Given the description of an element on the screen output the (x, y) to click on. 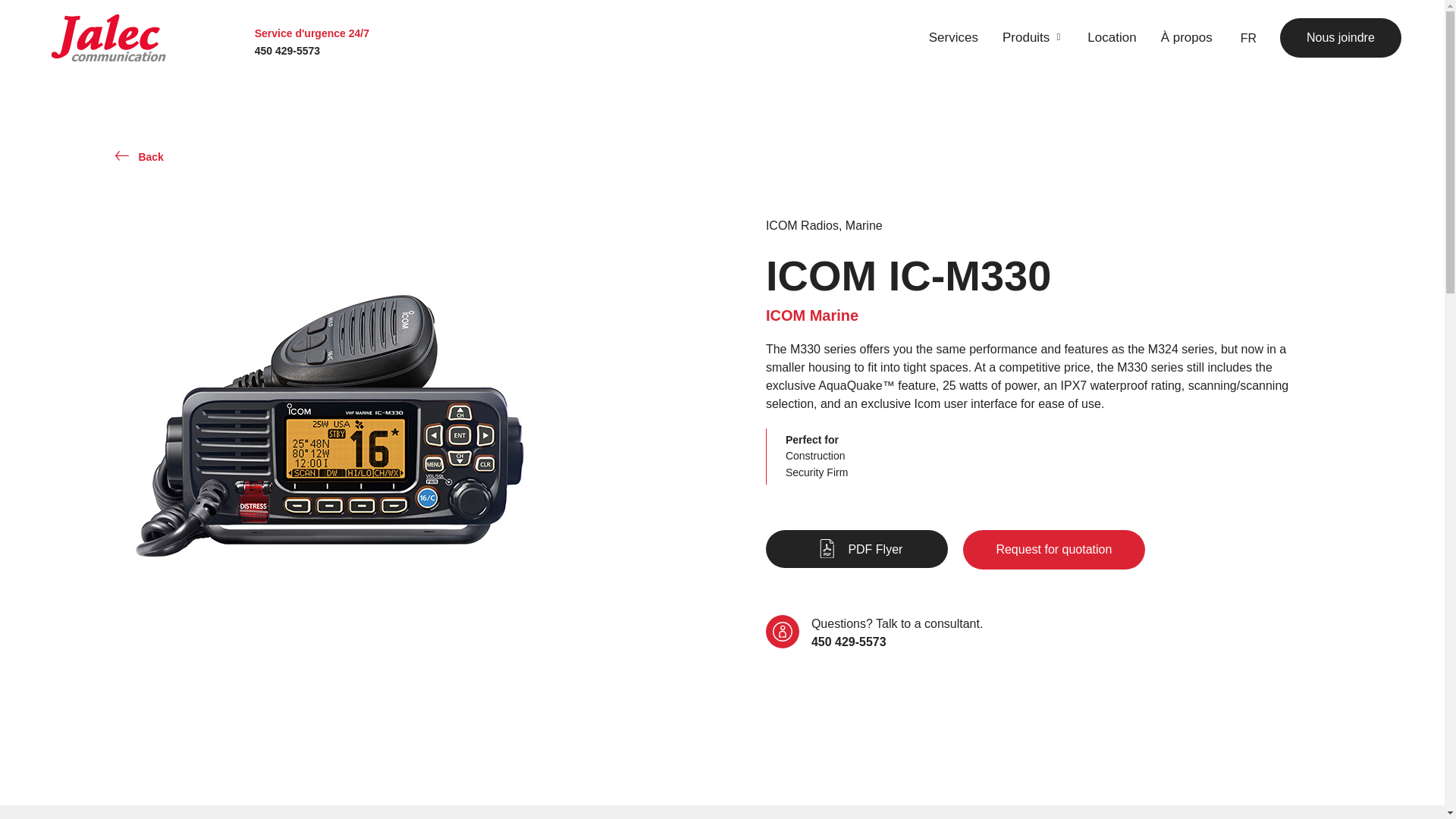
Services (953, 37)
Location (1111, 37)
